Given the description of an element on the screen output the (x, y) to click on. 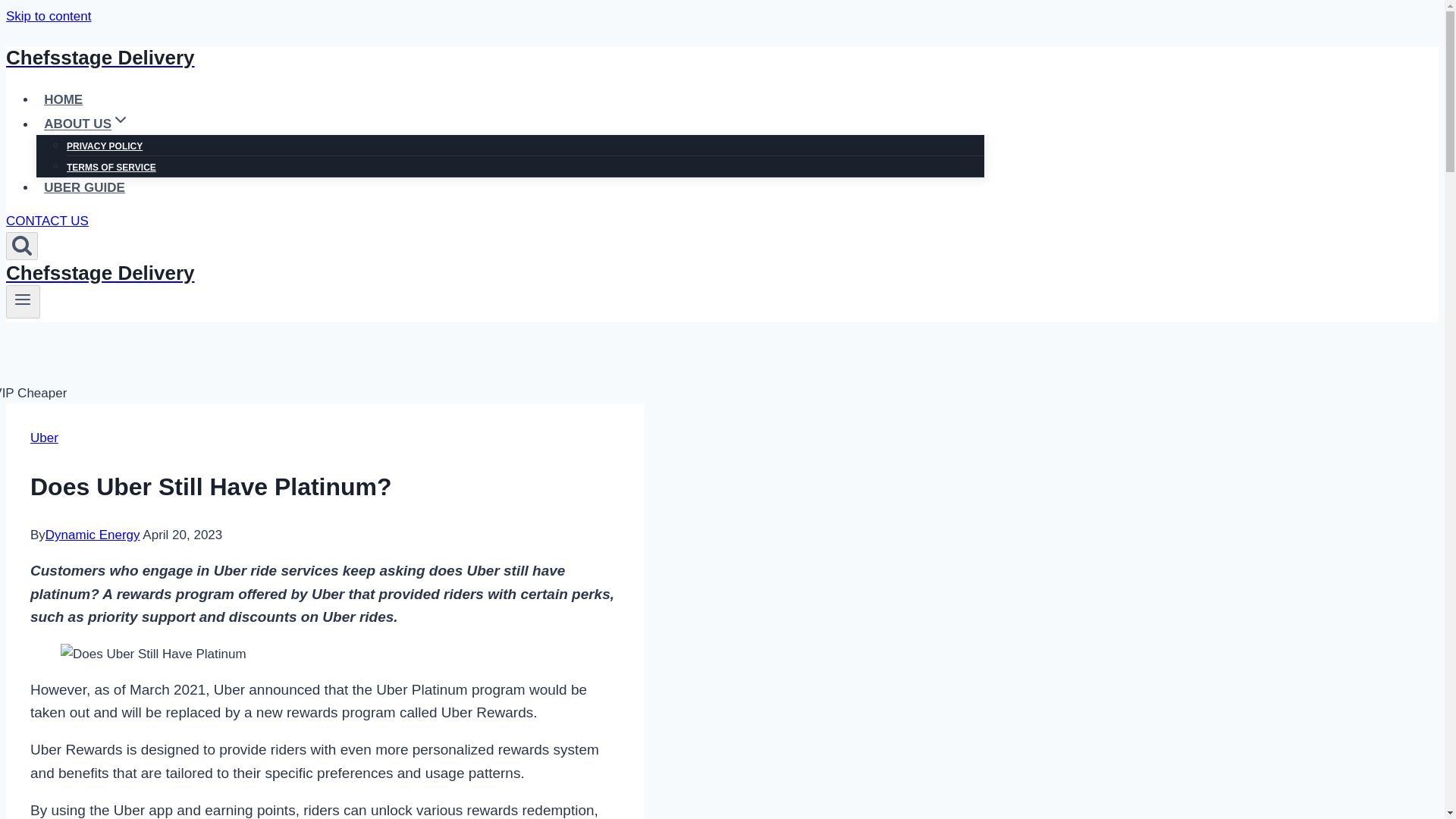
Search (21, 243)
UBER GUIDE (84, 187)
Toggle Menu (22, 301)
ABOUT USEXPAND (86, 123)
Toggle Menu (22, 299)
HOME (63, 99)
CONTACT US (46, 220)
EXPAND (120, 119)
Search (21, 245)
Chefsstage Delivery (494, 57)
Uber (44, 437)
TERMS OF SERVICE (110, 167)
Skip to content (47, 16)
Chefsstage Delivery (494, 273)
Dynamic Energy (92, 534)
